Given the description of an element on the screen output the (x, y) to click on. 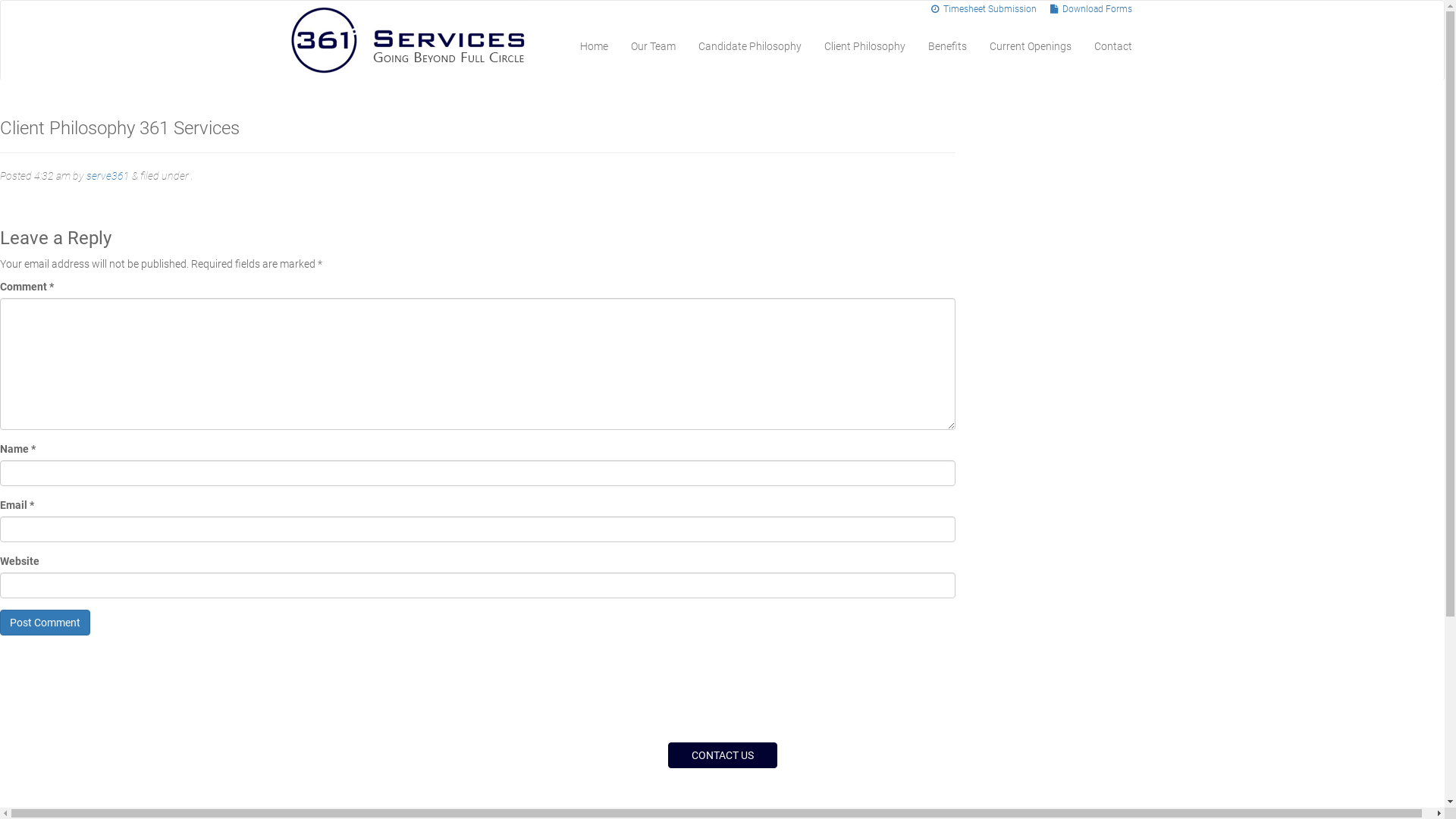
Our Team Element type: text (652, 46)
 Timesheet Submission Element type: text (989, 8)
Candidate Philosophy Element type: text (749, 46)
Current Openings Element type: text (1030, 46)
Contact Element type: text (1112, 46)
CONTACT US Element type: text (721, 755)
Benefits Element type: text (946, 46)
serve361 Element type: text (107, 175)
Post Comment Element type: text (45, 622)
Home Element type: text (593, 46)
 Download Forms Element type: text (1095, 8)
Client Philosophy Element type: text (864, 46)
